Given the description of an element on the screen output the (x, y) to click on. 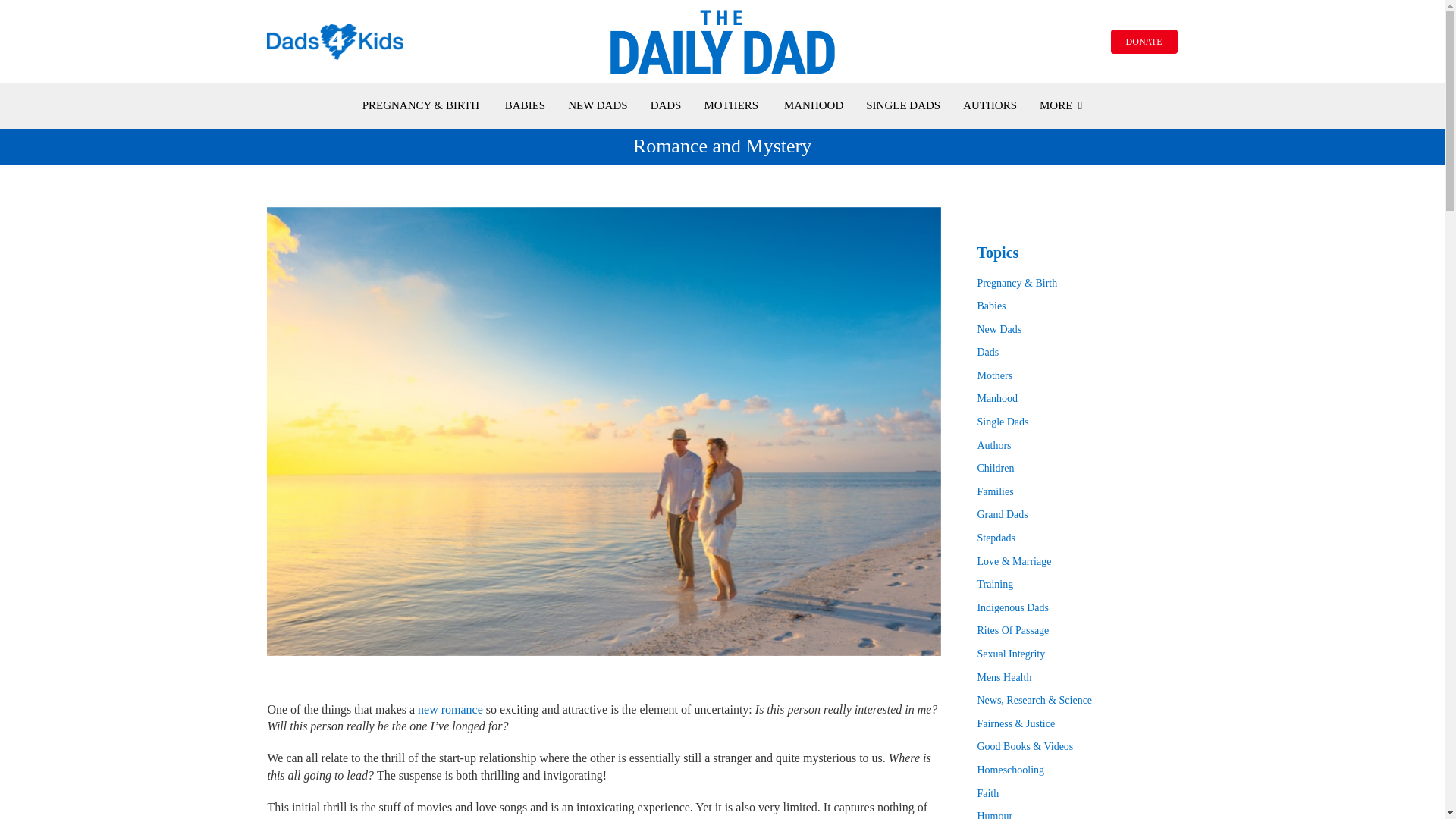
AUTHORS (989, 105)
BABIES (524, 105)
MOTHERS  (731, 105)
NEW DADS (597, 105)
DADS (665, 105)
MORE (1060, 105)
MANHOOD (813, 105)
SINGLE DADS (903, 105)
DONATE (1143, 41)
